Given the description of an element on the screen output the (x, y) to click on. 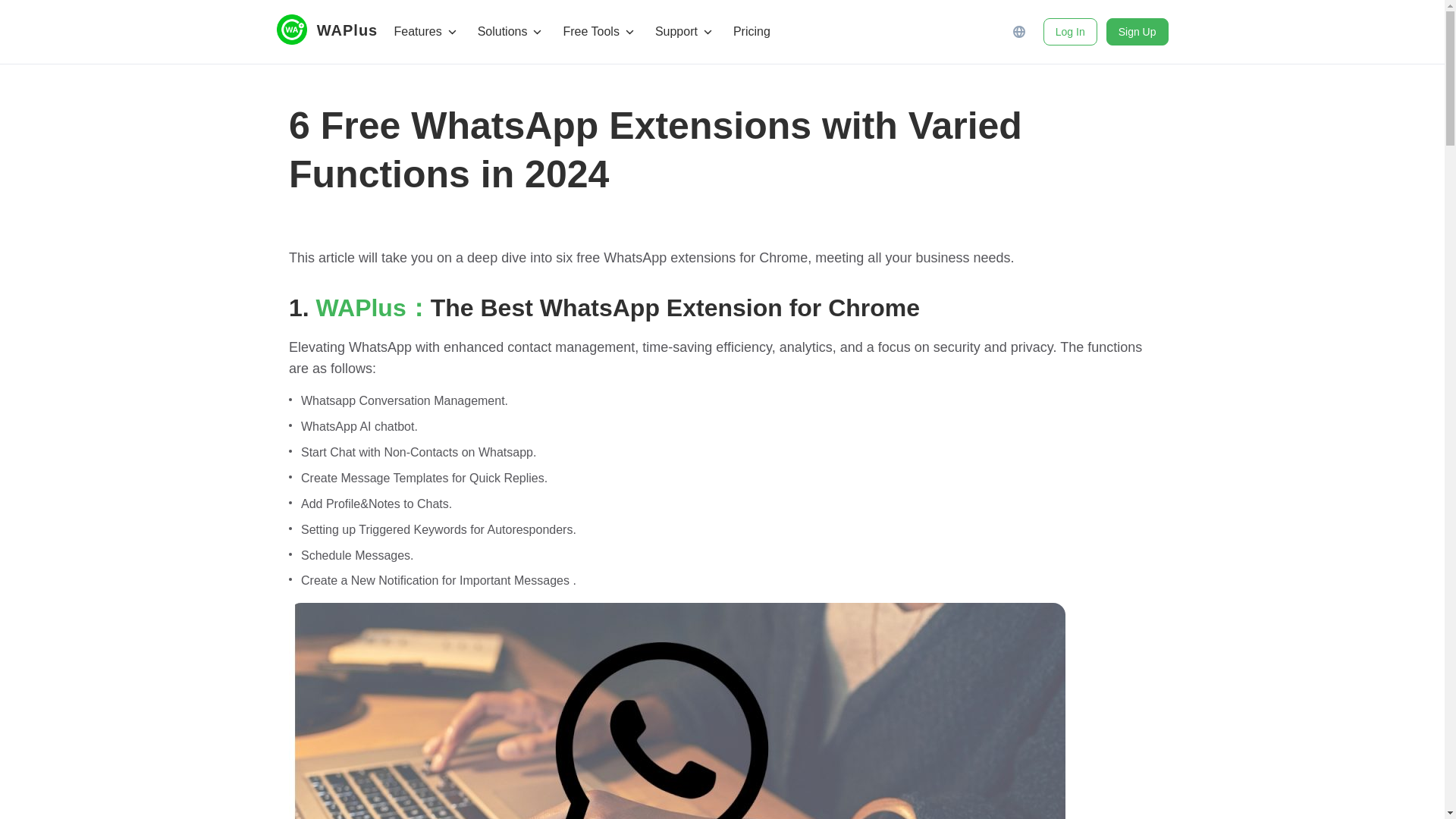
WAPlus (346, 29)
Pricing (751, 31)
Features (425, 31)
WAPlus CRM -Business Management Software (334, 29)
Solutions (509, 31)
WAPlus (334, 29)
